Given the description of an element on the screen output the (x, y) to click on. 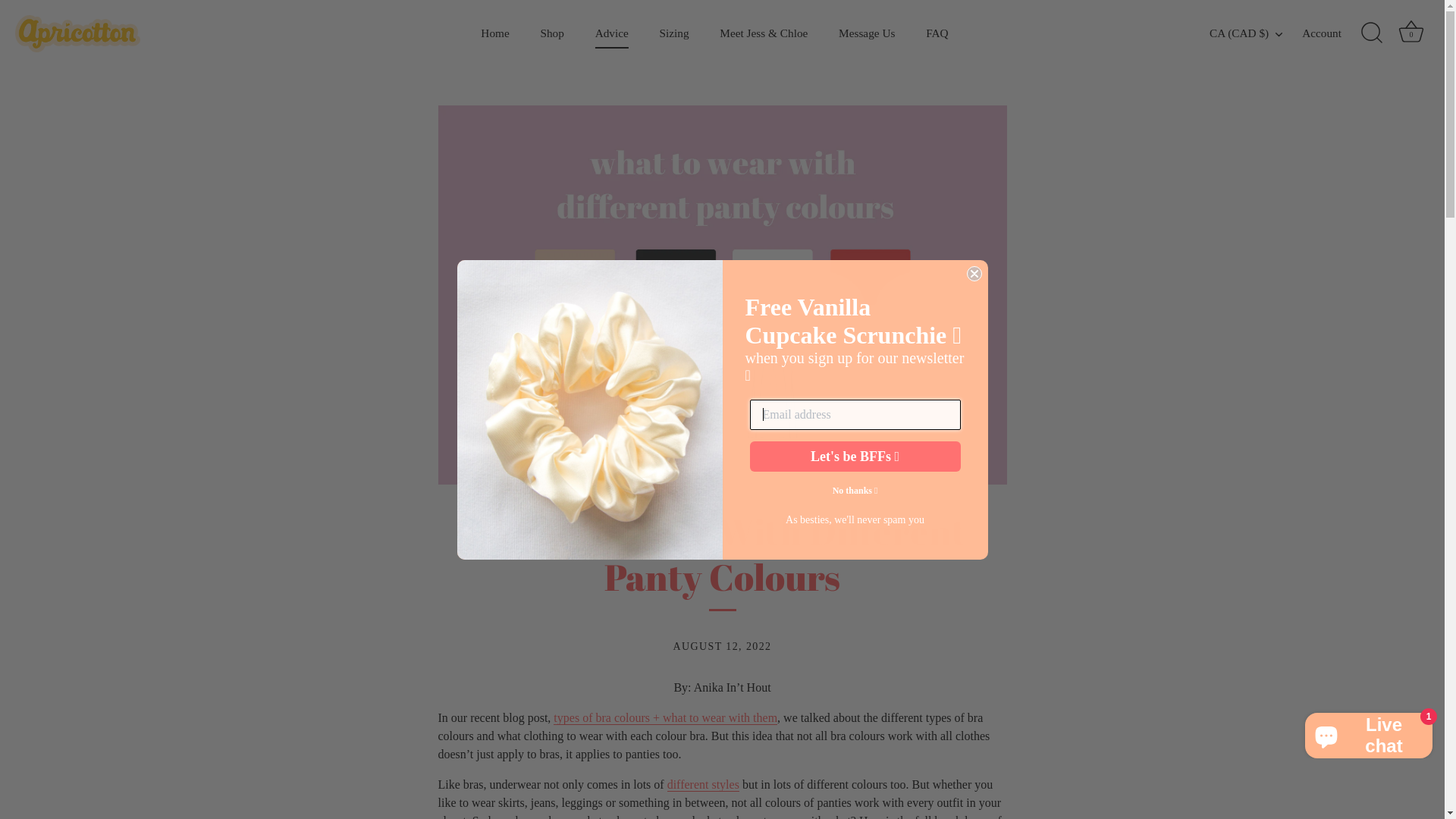
CA (CAD $) Element type: text (1254, 32)
Basket
0 Element type: text (1410, 33)
Sizing Element type: text (673, 33)
types of bra colours + what to wear with them Element type: text (665, 717)
FAQ Element type: text (937, 33)
Shop Element type: text (551, 33)
Advice Element type: text (611, 33)
Submit Element type: text (40, 21)
Home Element type: text (495, 33)
Message Us Element type: text (867, 33)
Account Element type: text (1335, 33)
Shopify online store chat Element type: hover (1368, 732)
Meet Jess & Chloe Element type: text (764, 33)
Vanilla Cupcake Scrunchie Element type: hover (588, 408)
different styles Element type: text (703, 784)
